Given the description of an element on the screen output the (x, y) to click on. 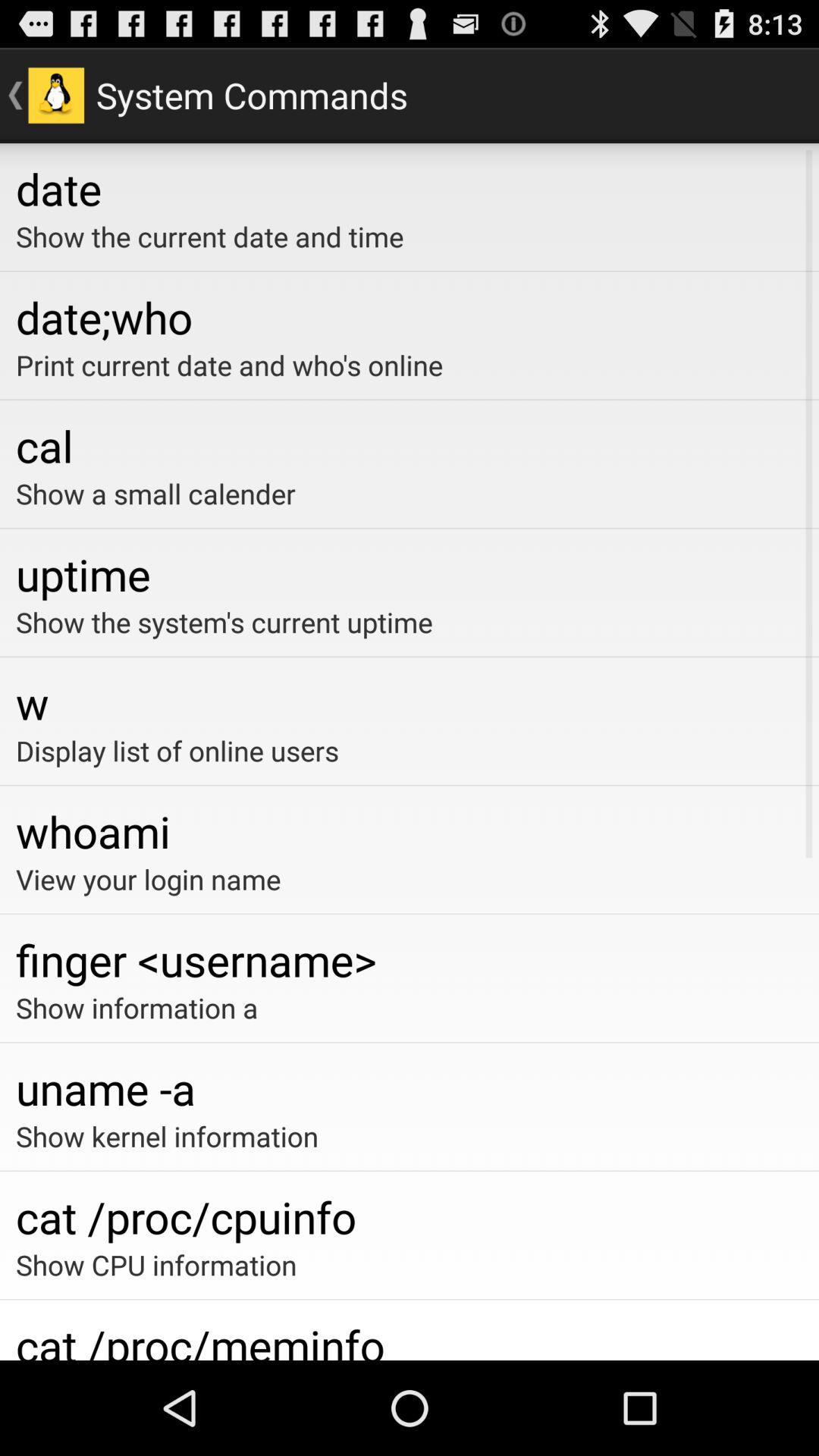
tap item below the w item (409, 750)
